Given the description of an element on the screen output the (x, y) to click on. 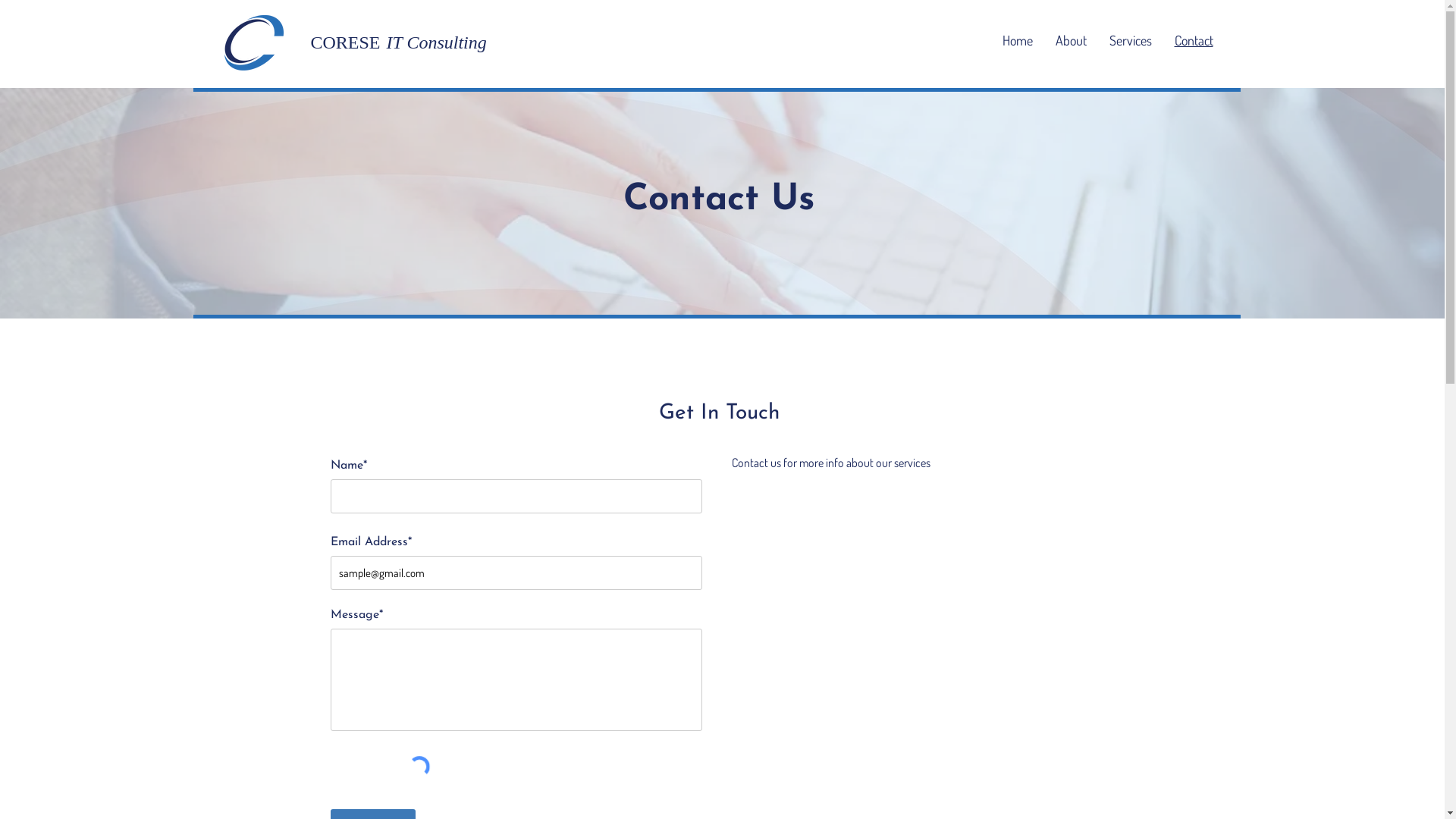
Services Element type: text (1130, 39)
Home Element type: text (1016, 39)
Contact Element type: text (1193, 39)
About Element type: text (1070, 39)
